Given the description of an element on the screen output the (x, y) to click on. 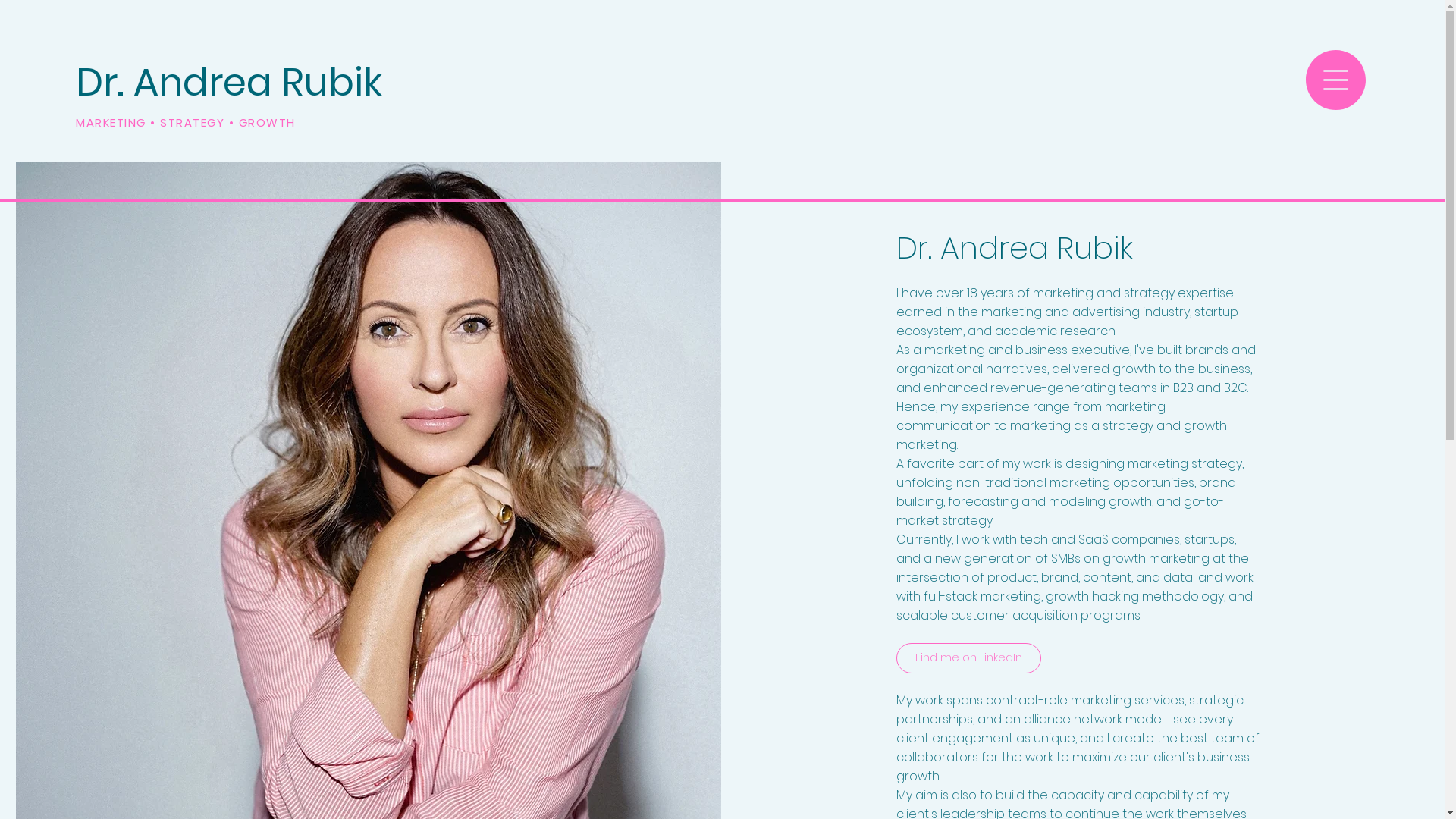
Dr. Andrea Rubik Element type: text (228, 82)
Find me on LinkedIn Element type: text (968, 658)
